Given the description of an element on the screen output the (x, y) to click on. 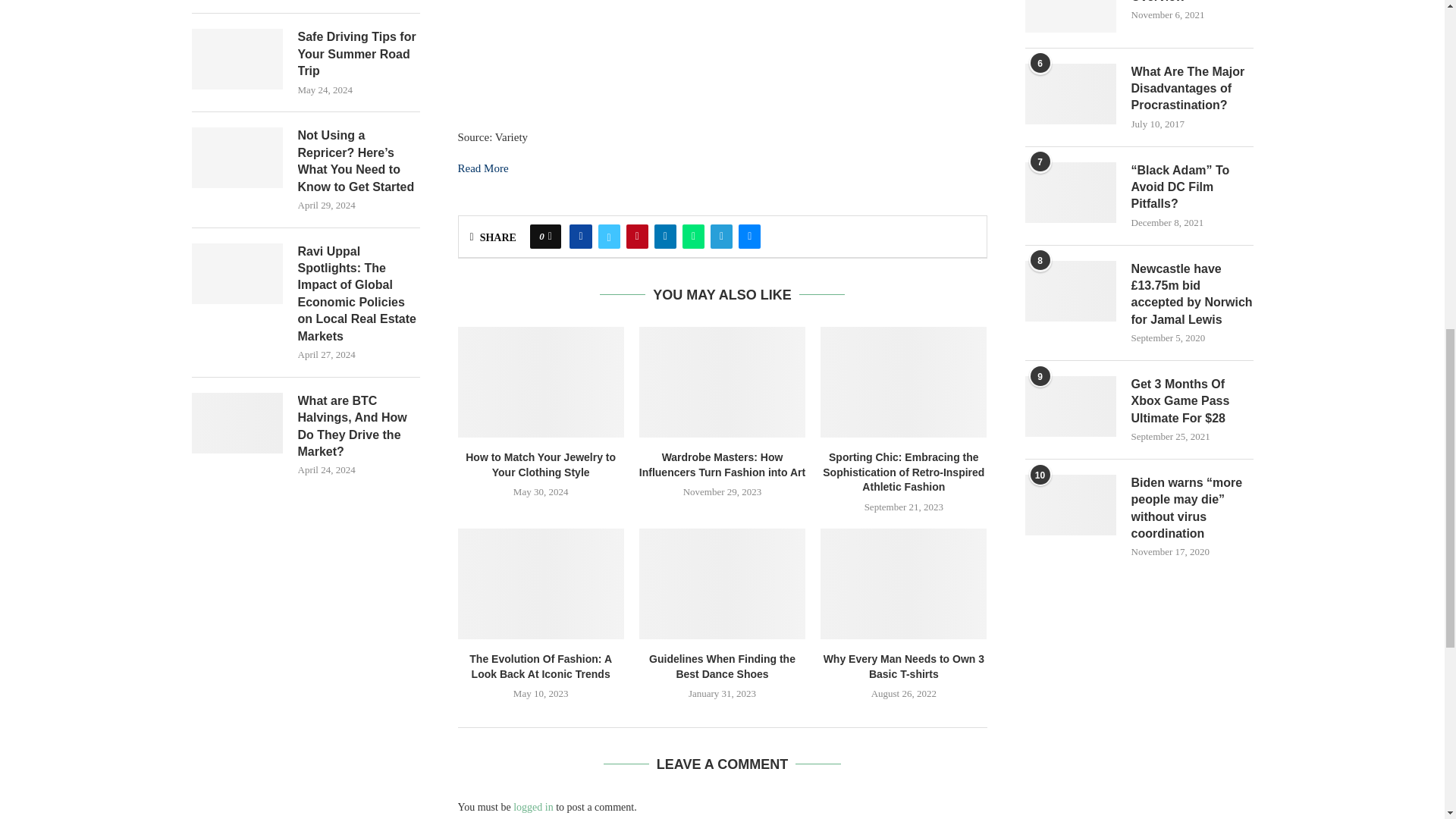
Why Every Man Needs to Own 3 Basic T-shirts (904, 583)
YouTube video player (681, 54)
Wardrobe Masters: How Influencers Turn Fashion into Art (722, 381)
The Evolution Of Fashion: A Look Back At Iconic Trends (541, 583)
Guidelines When Finding the Best Dance Shoes (722, 583)
How to Match Your Jewelry to Your Clothing Style (541, 381)
